Given the description of an element on the screen output the (x, y) to click on. 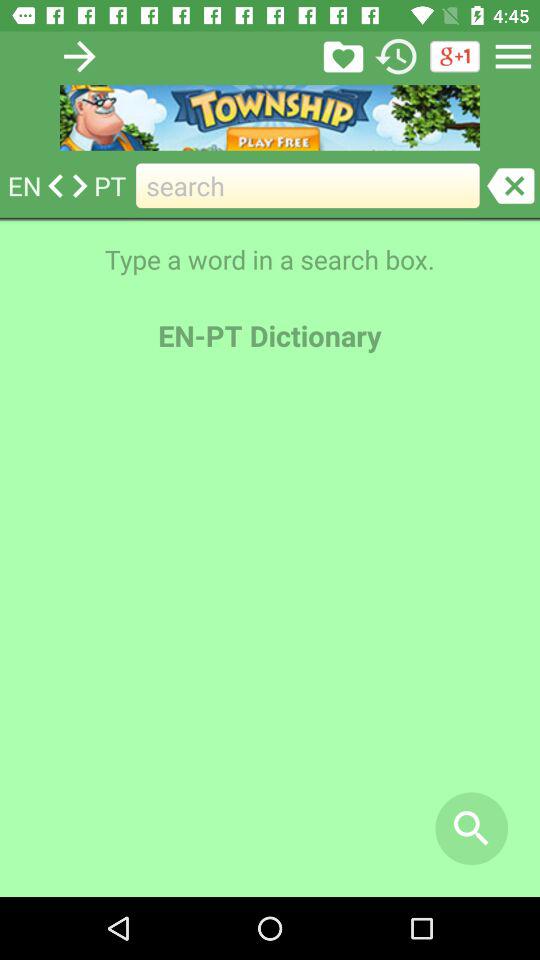
click on advertisement (270, 117)
